Given the description of an element on the screen output the (x, y) to click on. 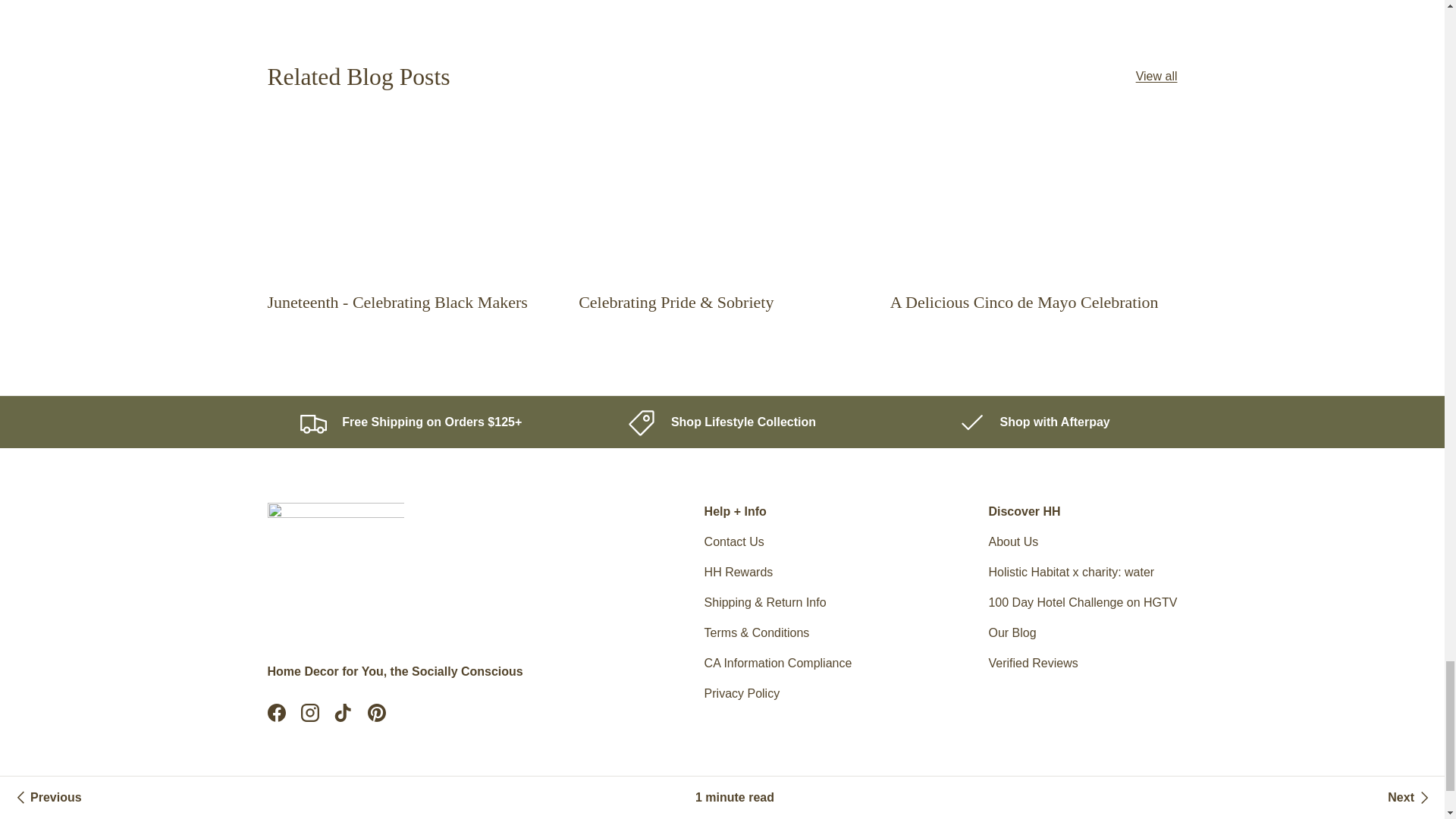
Holistic Habitat  on Instagram (309, 712)
Holistic Habitat  on Pinterest (376, 712)
Holistic Habitat  on Facebook (275, 712)
Holistic Habitat  on TikTok (342, 712)
